Given the description of an element on the screen output the (x, y) to click on. 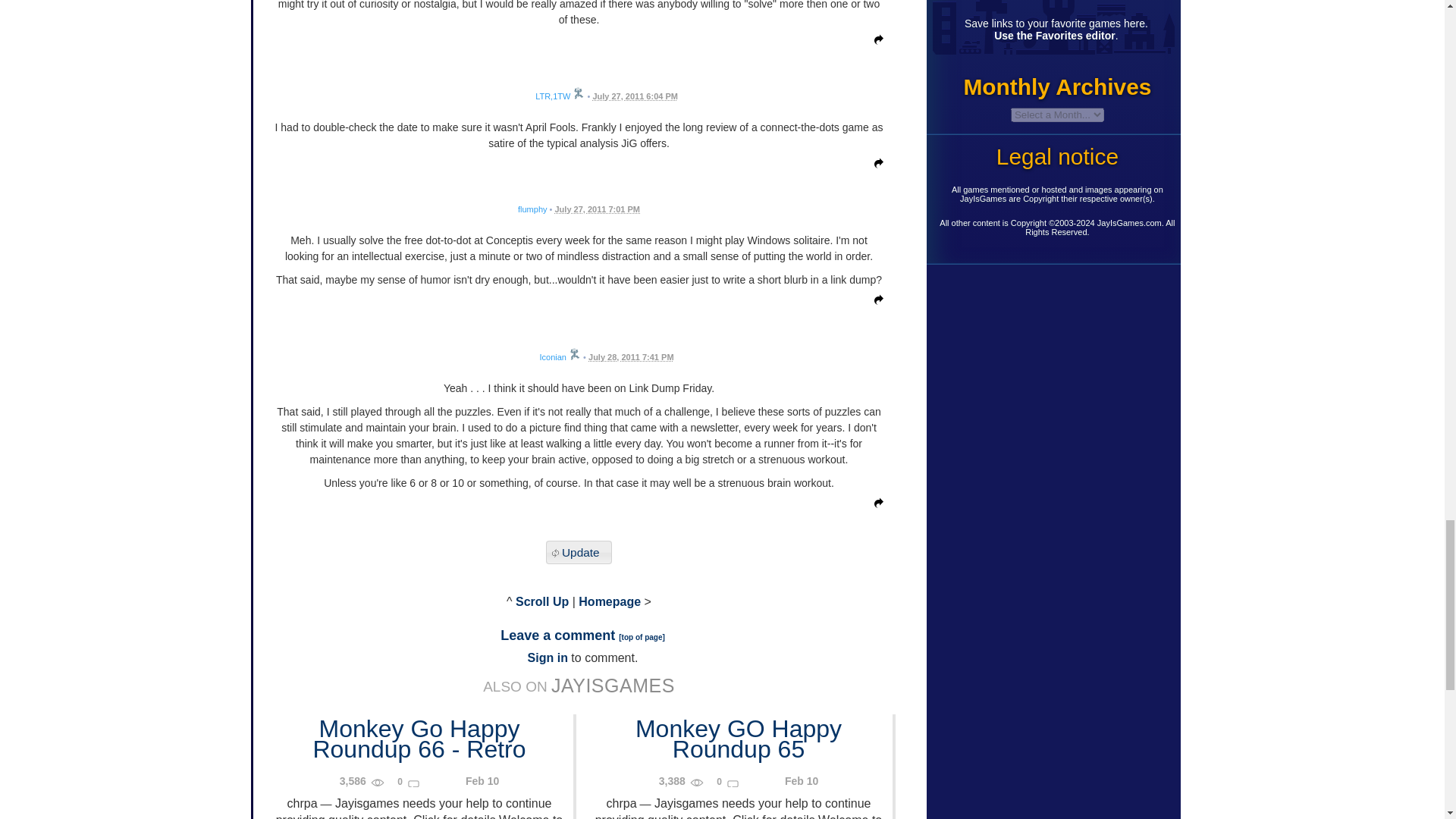
Reply (874, 41)
Reply (874, 165)
2011-07-27T18:04:35-05:00 (635, 95)
